Given the description of an element on the screen output the (x, y) to click on. 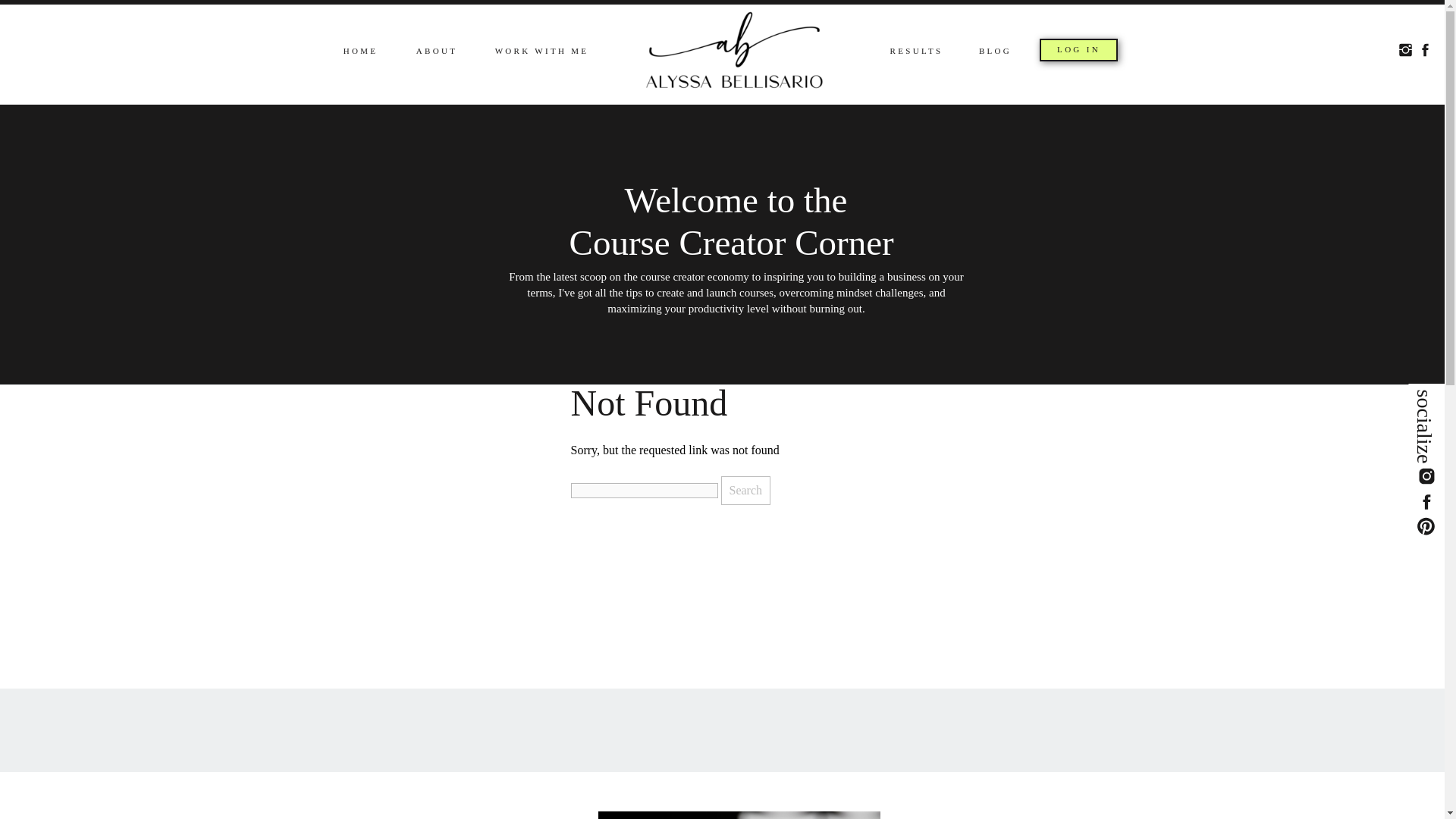
Search (745, 490)
RESULTS (916, 52)
ABOUT (435, 51)
LOG IN (1078, 50)
Search (745, 490)
HOME (360, 51)
BLOG (994, 51)
WORK WITH ME (541, 51)
